Given the description of an element on the screen output the (x, y) to click on. 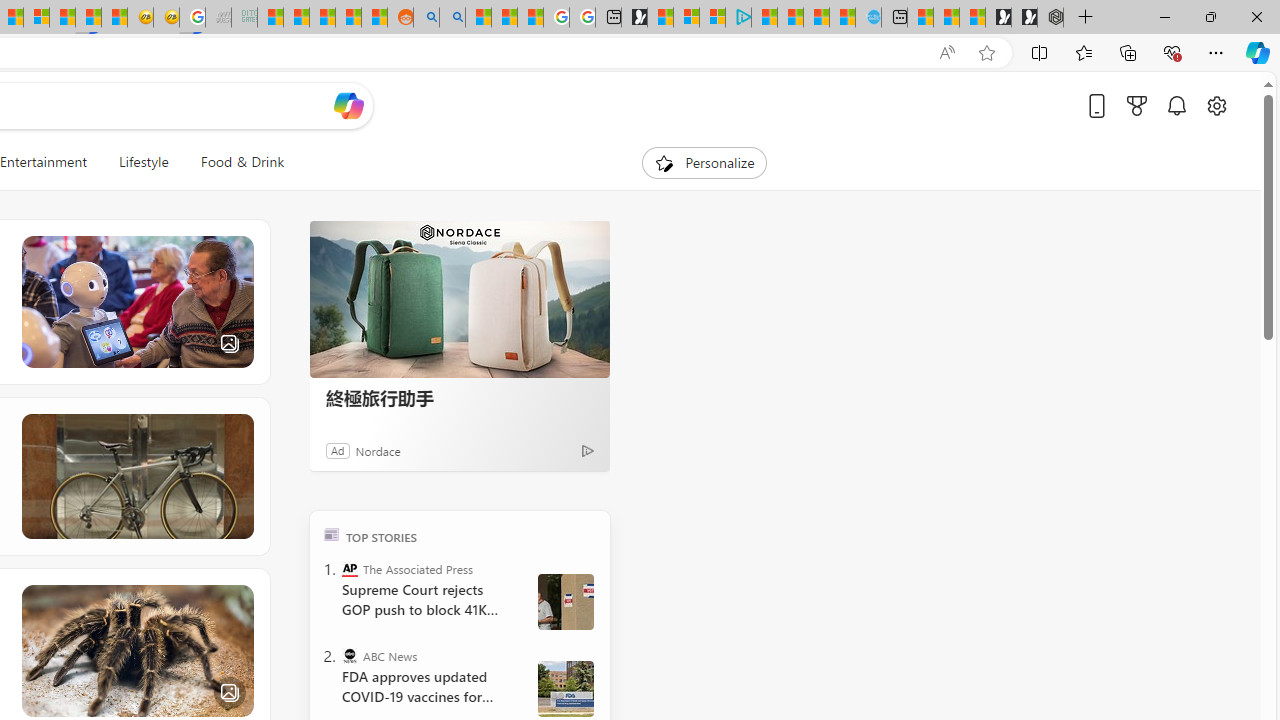
TOP (331, 534)
Bike Gurus (136, 476)
